Given the description of an element on the screen output the (x, y) to click on. 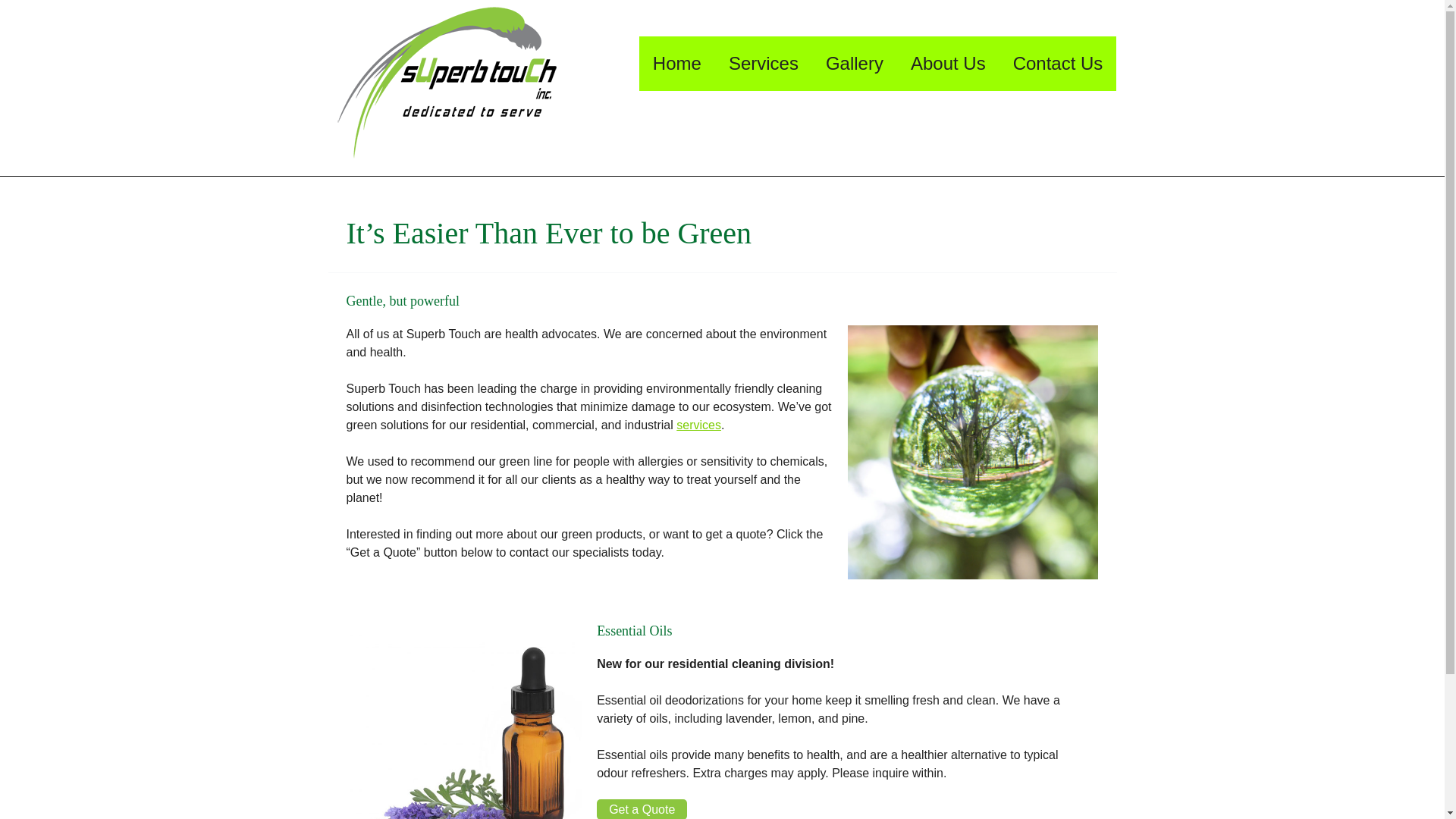
Gallery (854, 63)
Get a Quote (641, 809)
Contact Us (1057, 63)
Home (676, 63)
services (698, 424)
Services (763, 63)
About Us (947, 63)
